Given the description of an element on the screen output the (x, y) to click on. 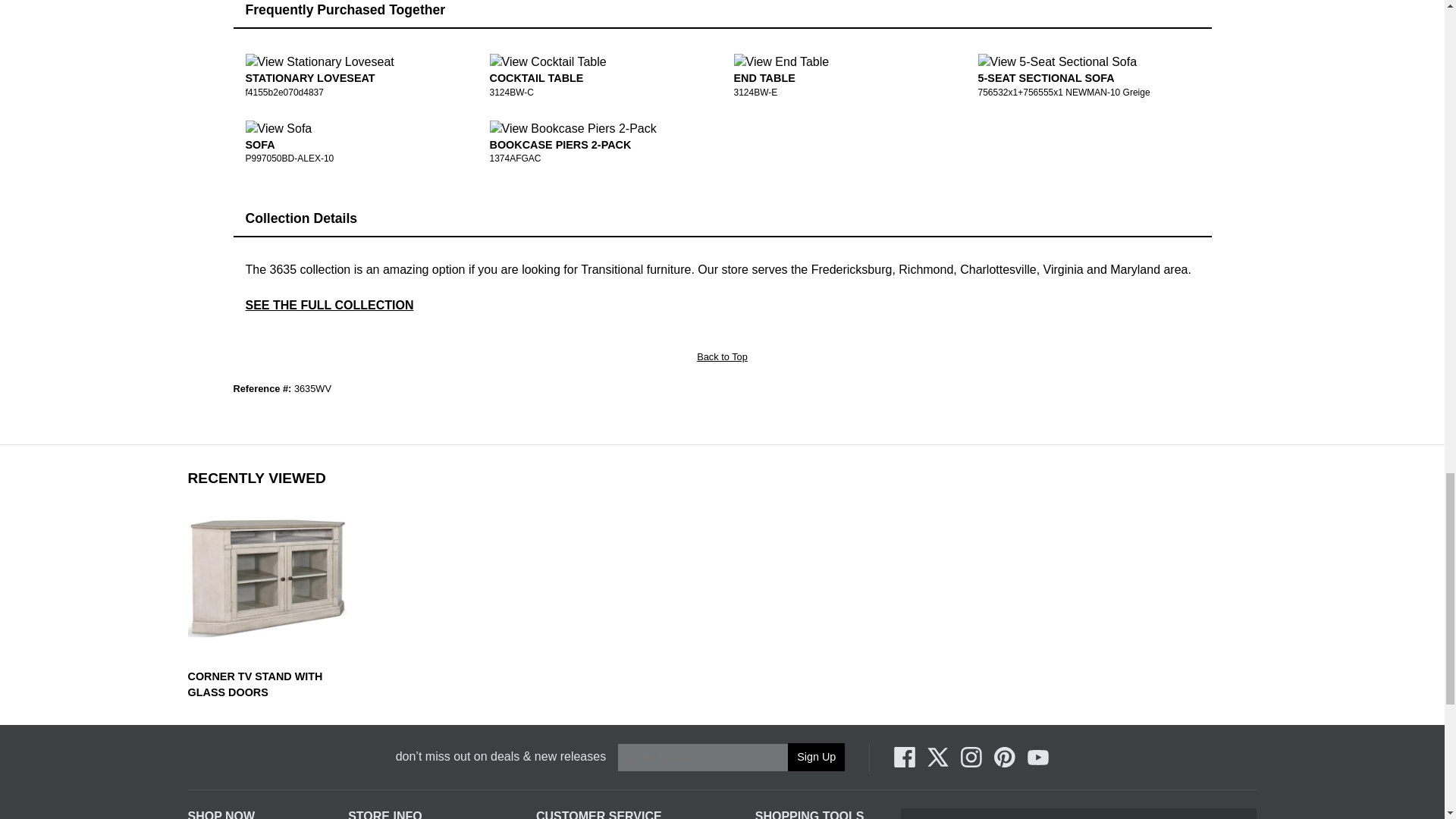
Sign Up (815, 756)
